Given the description of an element on the screen output the (x, y) to click on. 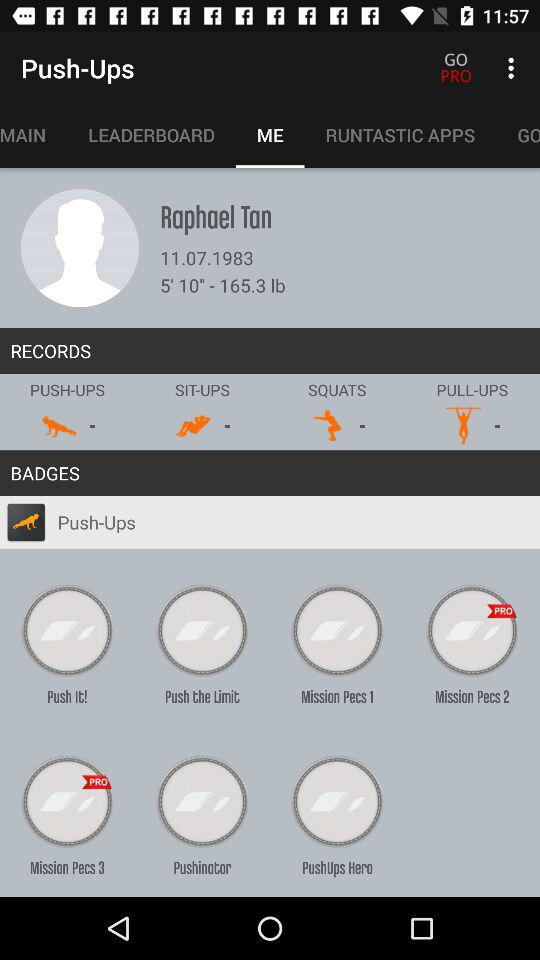
select runtastic apps (400, 135)
